Given the description of an element on the screen output the (x, y) to click on. 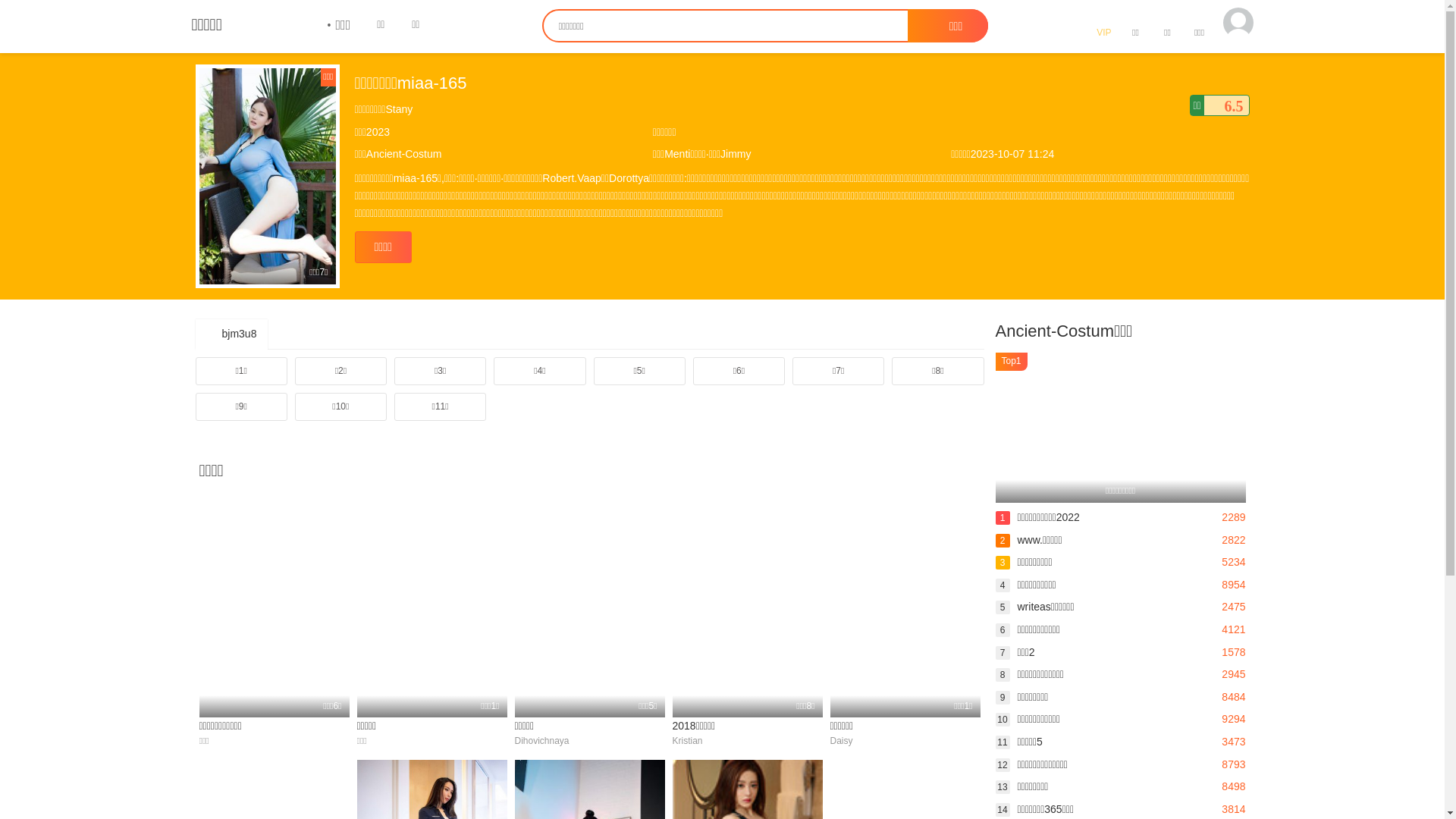
bjm3u8 Element type: text (231, 334)
VIP Element type: text (1102, 26)
